Given the description of an element on the screen output the (x, y) to click on. 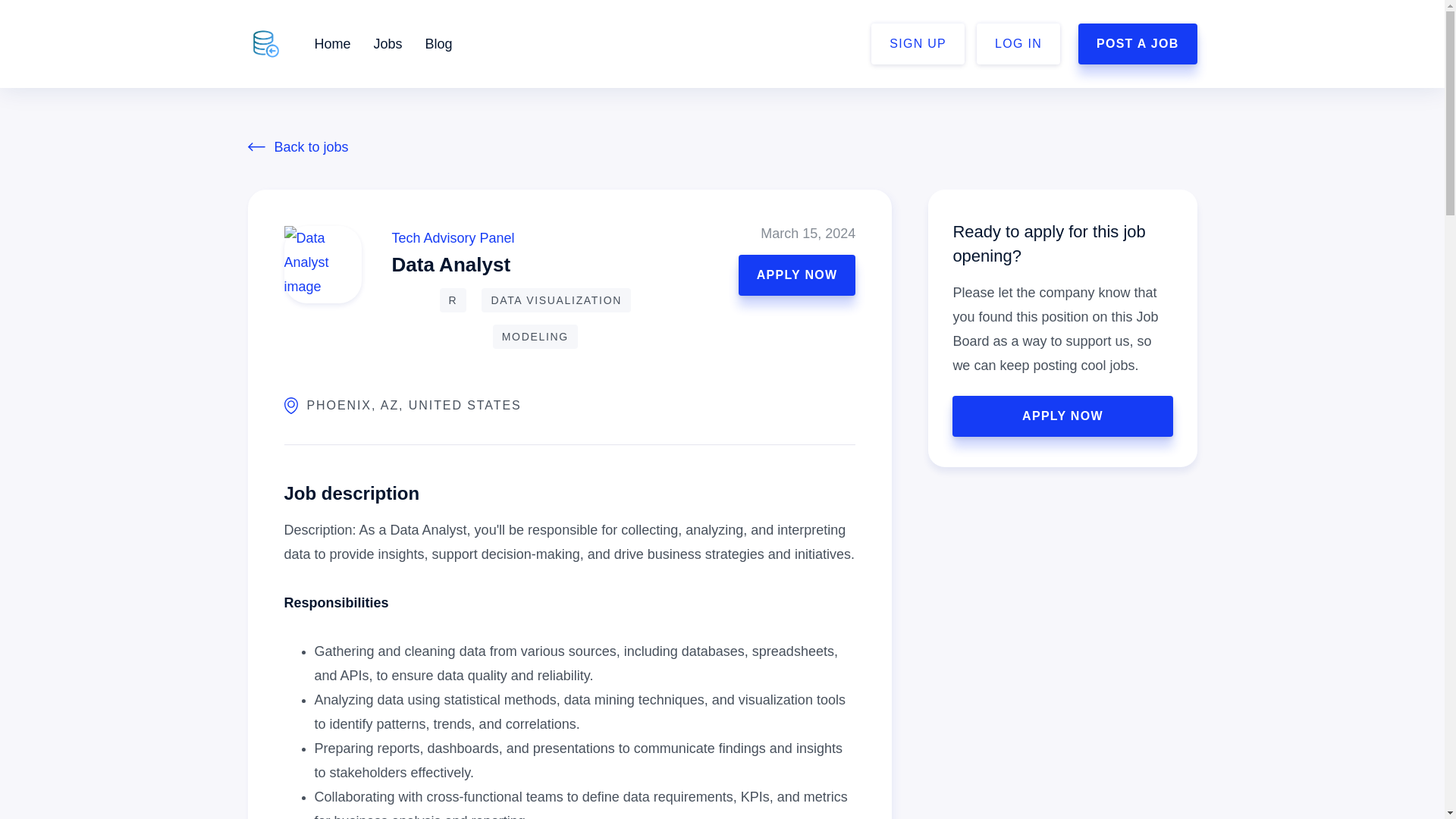
Blog (438, 43)
APPLY NOW (1062, 415)
POST A JOB (1137, 43)
Back to jobs (721, 146)
MODELING (535, 336)
APPLY NOW (797, 274)
Tech Advisory Panel (452, 237)
Home (332, 43)
Jobs (388, 43)
SIGN UP (916, 43)
DATA VISUALIZATION (555, 300)
LOG IN (1017, 43)
R (453, 300)
